Given the description of an element on the screen output the (x, y) to click on. 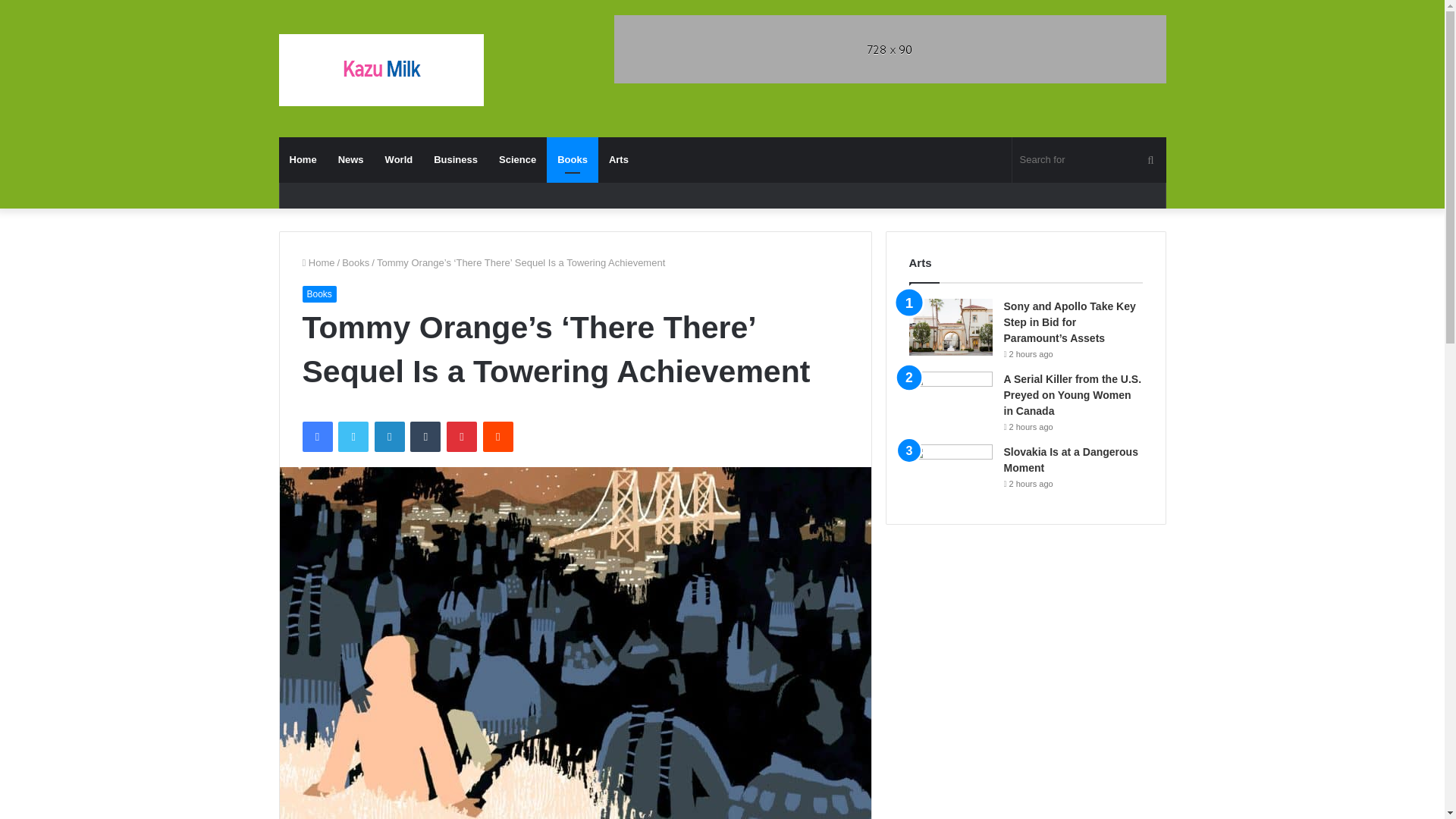
Tumblr (425, 436)
World (398, 159)
News (350, 159)
Science (517, 159)
Business (455, 159)
Reddit (498, 436)
Twitter (352, 436)
Pinterest (461, 436)
Arts (618, 159)
Books (318, 293)
